Given the description of an element on the screen output the (x, y) to click on. 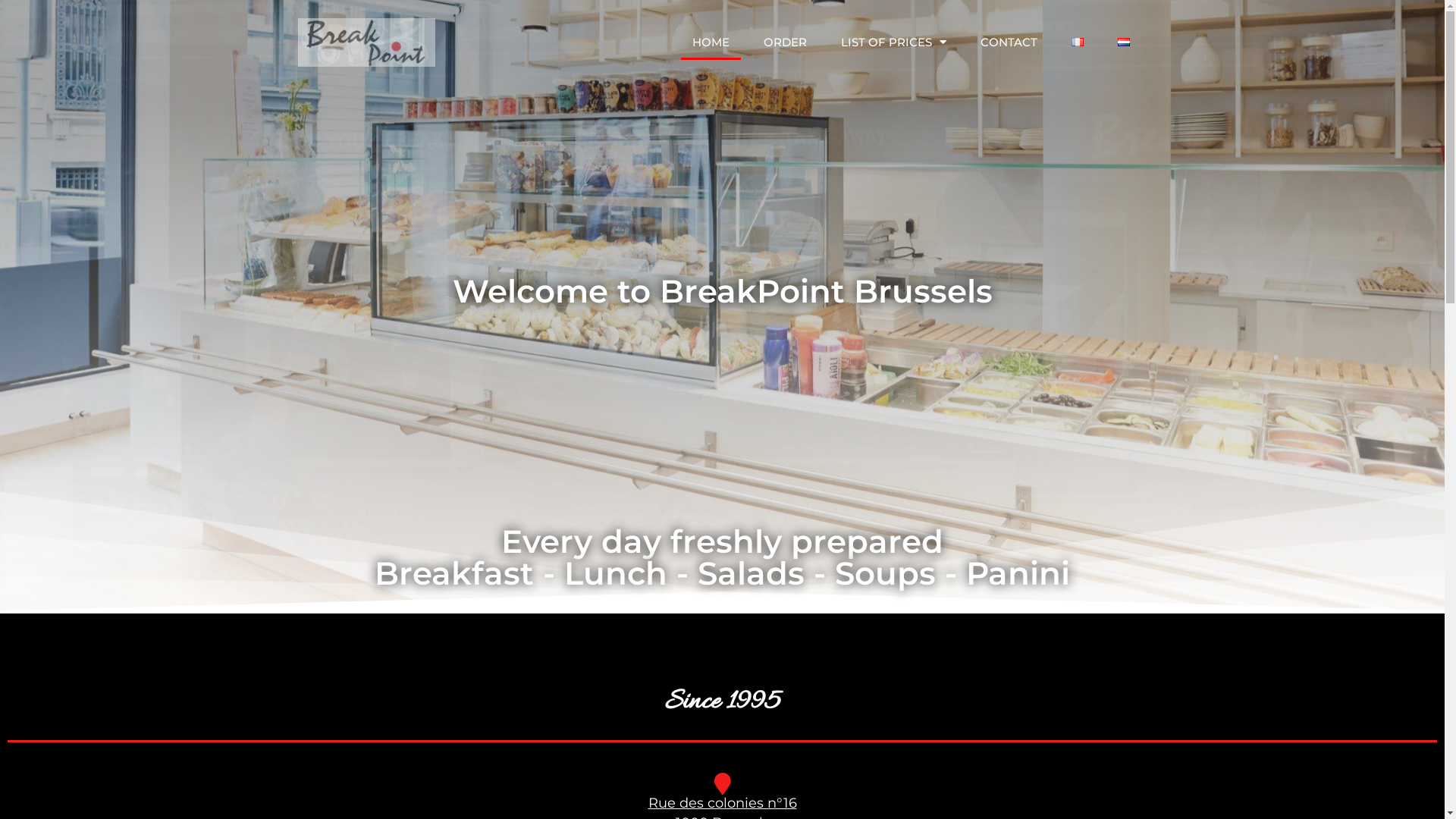
HOME Element type: text (710, 42)
ORDER Element type: text (785, 42)
CONTACT Element type: text (1008, 42)
LIST OF PRICES Element type: text (893, 42)
